Given the description of an element on the screen output the (x, y) to click on. 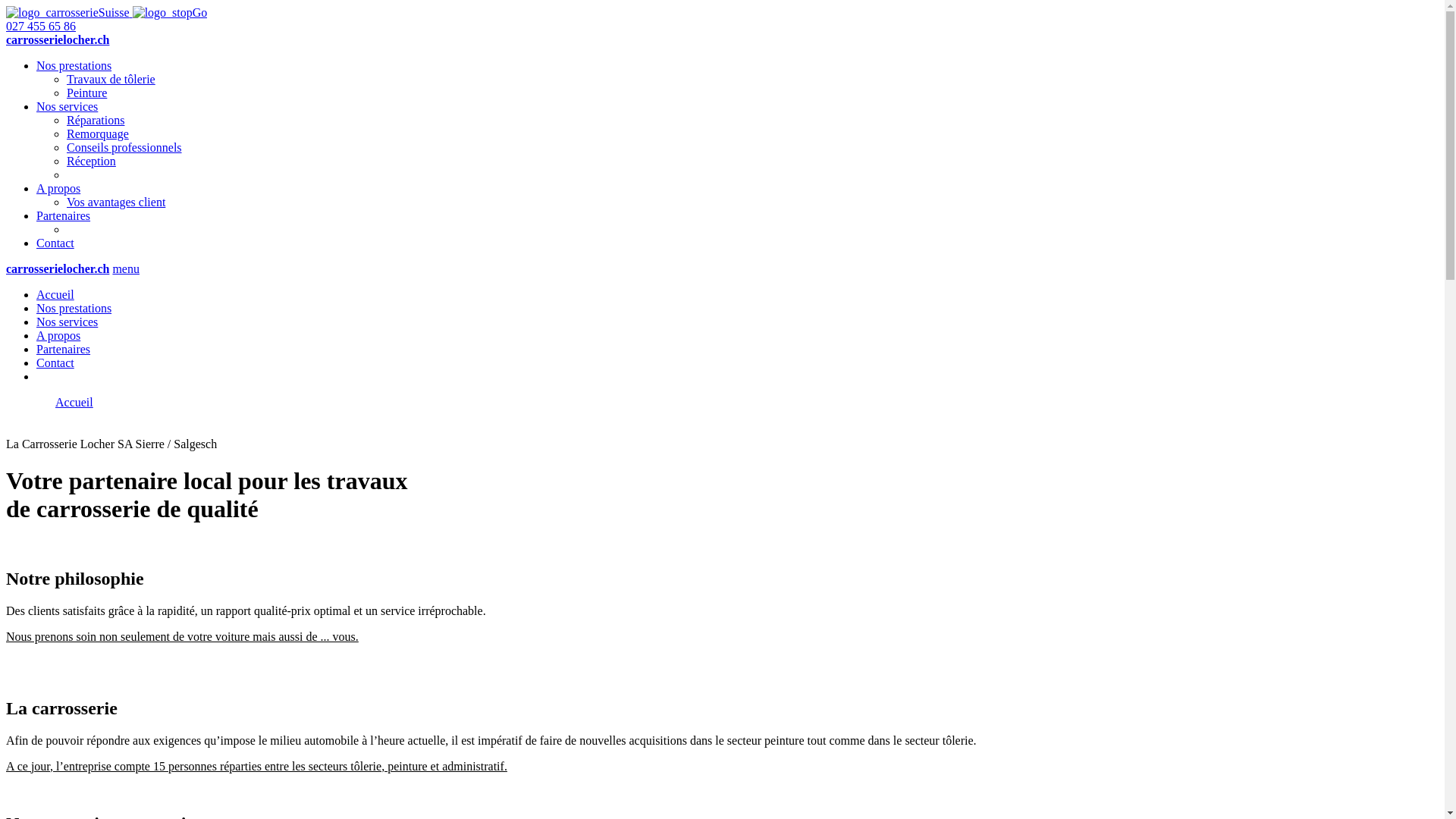
Nos prestations Element type: text (73, 65)
menu Element type: text (125, 268)
Contact Element type: text (55, 362)
Partenaires Element type: text (63, 215)
Nos prestations Element type: text (73, 307)
A propos Element type: text (58, 188)
Partenaires Element type: text (63, 348)
Nos services Element type: text (66, 321)
027 455 65 86 Element type: text (40, 25)
Peinture Element type: text (86, 92)
Contact Element type: text (55, 242)
Vos avantages client Element type: text (115, 201)
Accueil Element type: text (55, 294)
carrosserielocher.ch Element type: text (57, 268)
Nos services Element type: text (66, 106)
Accueil
-
Accueil Element type: text (49, 401)
Remorquage Element type: text (97, 133)
carrosserielocher.ch Element type: text (57, 39)
A propos Element type: text (58, 335)
Conseils professionnels Element type: text (124, 147)
